Given the description of an element on the screen output the (x, y) to click on. 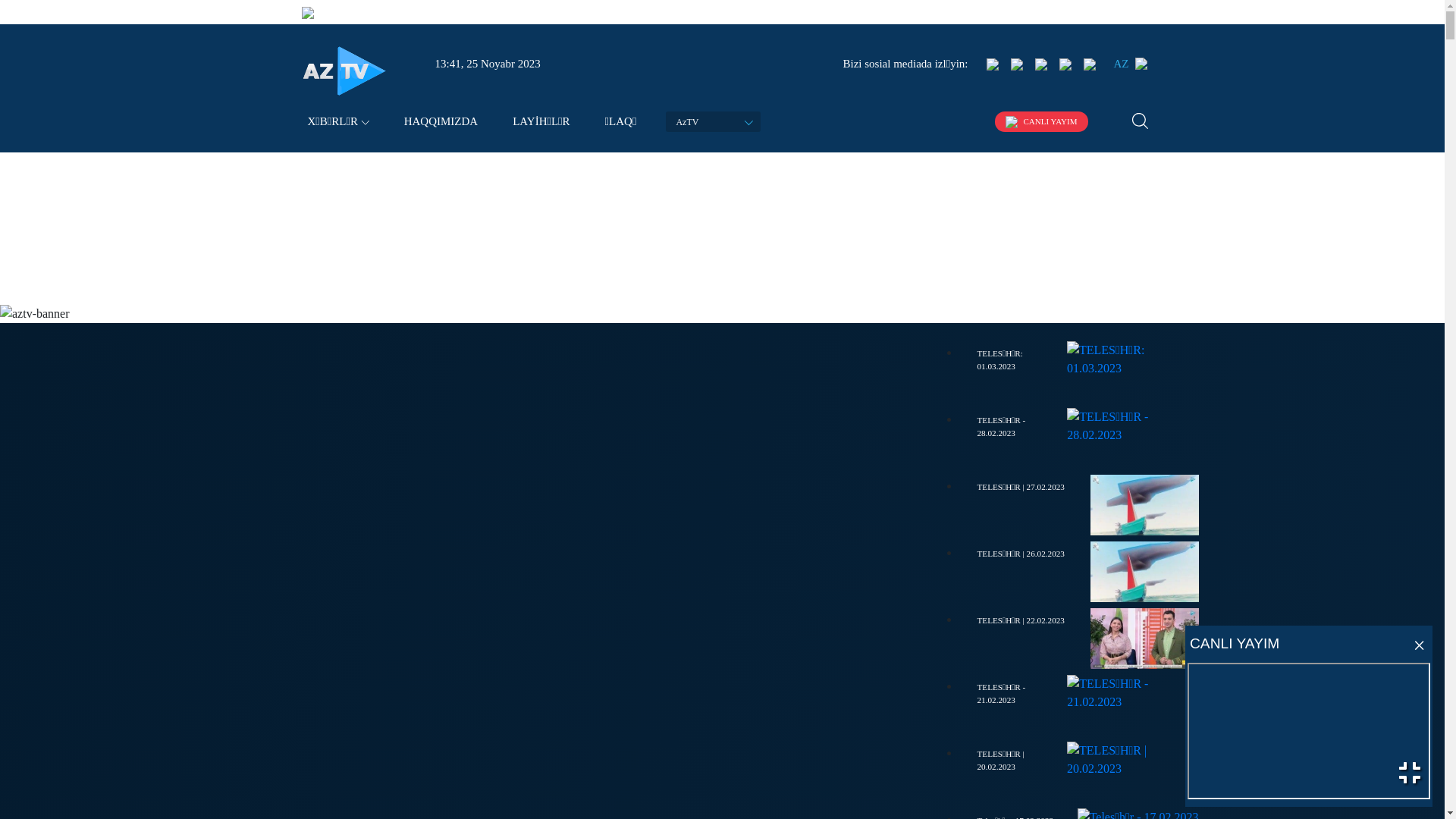
AzTV Element type: text (712, 121)
CANLI YAYIM Element type: text (1041, 121)
HAQQIMIZDA Element type: text (441, 121)
